Given the description of an element on the screen output the (x, y) to click on. 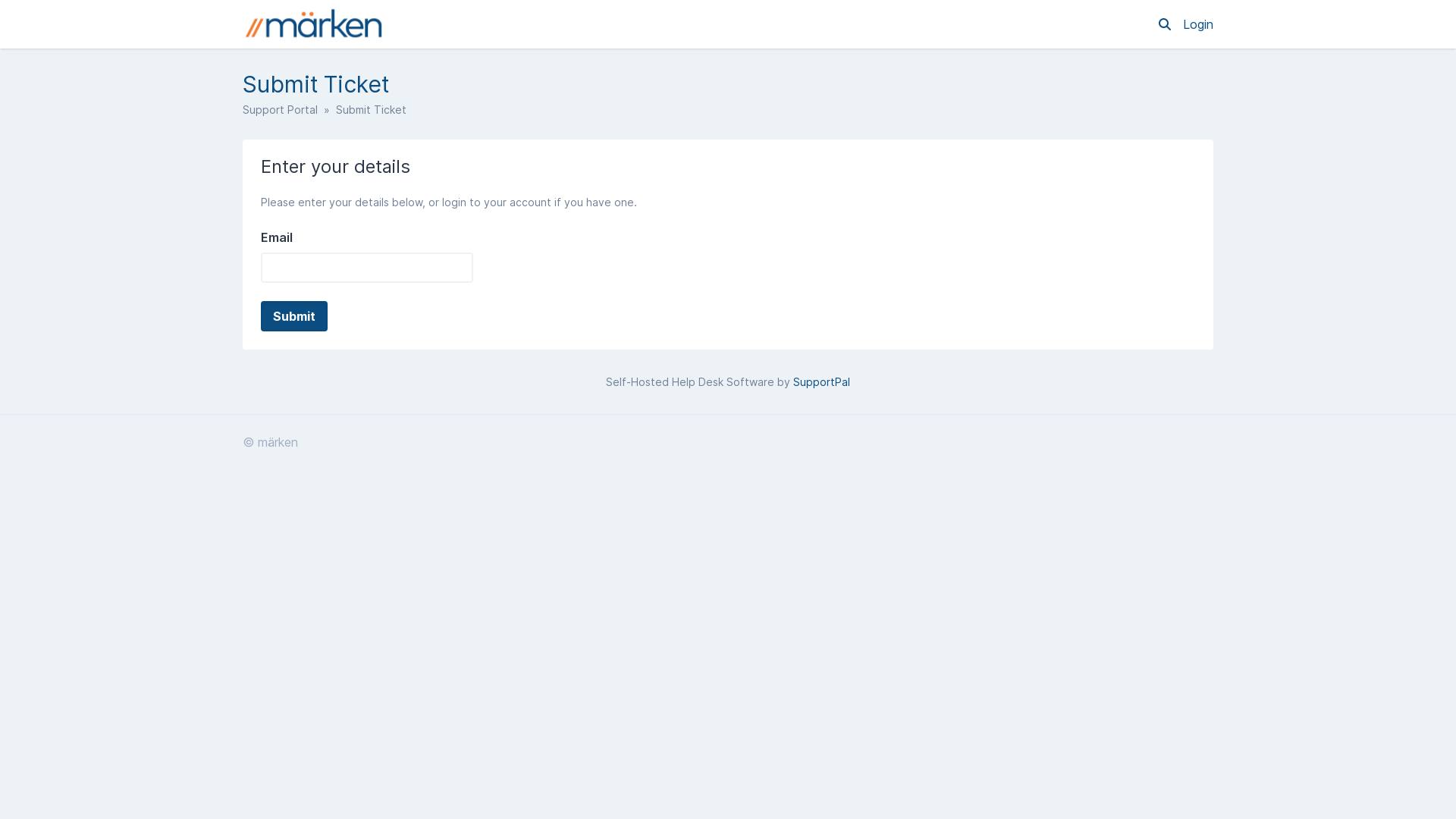
Login Element type: text (1198, 23)
Submit Element type: text (293, 316)
SupportPal Element type: text (821, 381)
Support Portal Element type: text (279, 109)
